Given the description of an element on the screen output the (x, y) to click on. 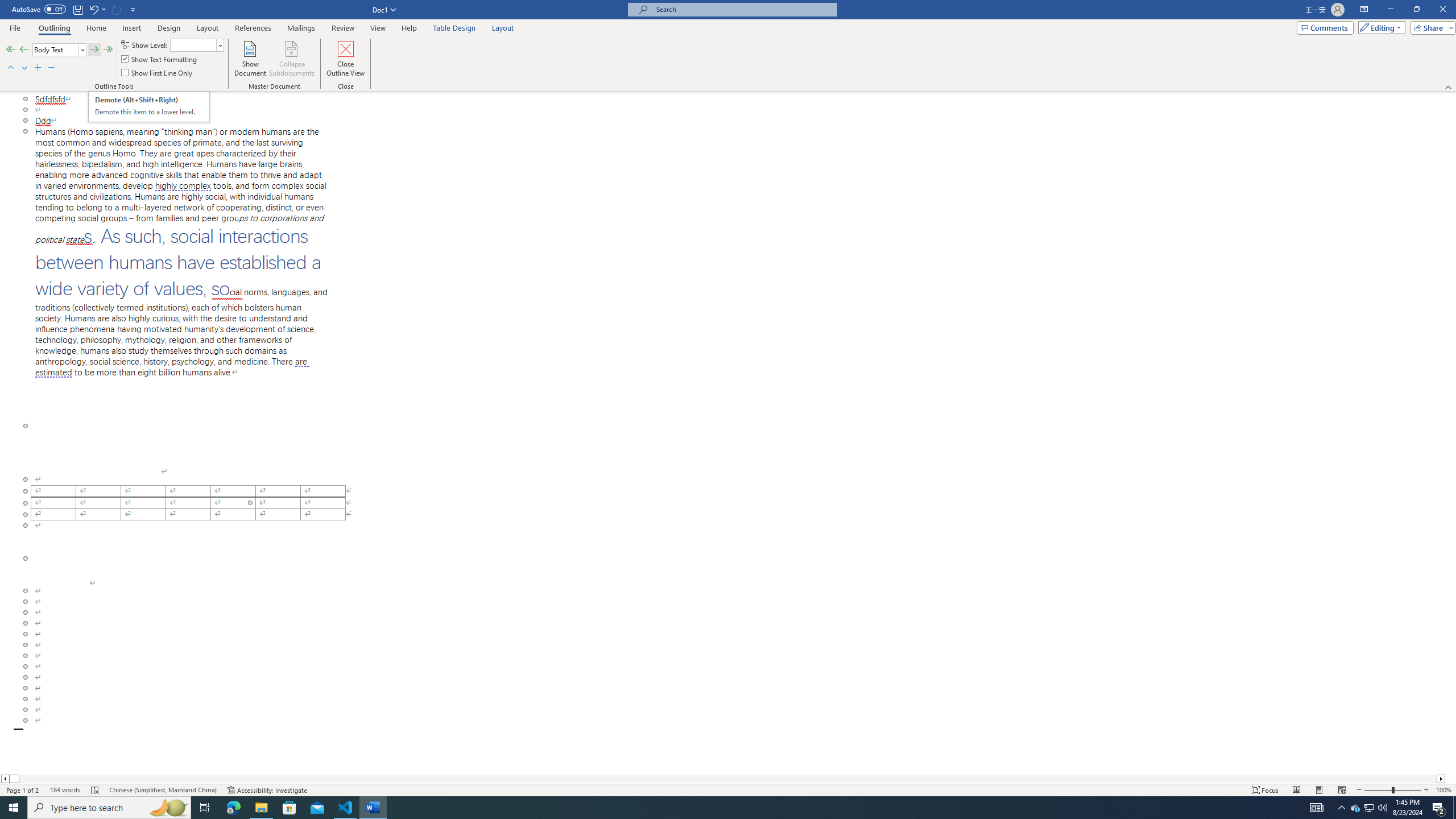
Column right (1441, 778)
Demote (94, 49)
Undo Row Height Spinner (92, 9)
Promote to Heading 1 (10, 49)
Show Text Formatting (159, 58)
Move Up (10, 67)
Page right (727, 778)
